Given the description of an element on the screen output the (x, y) to click on. 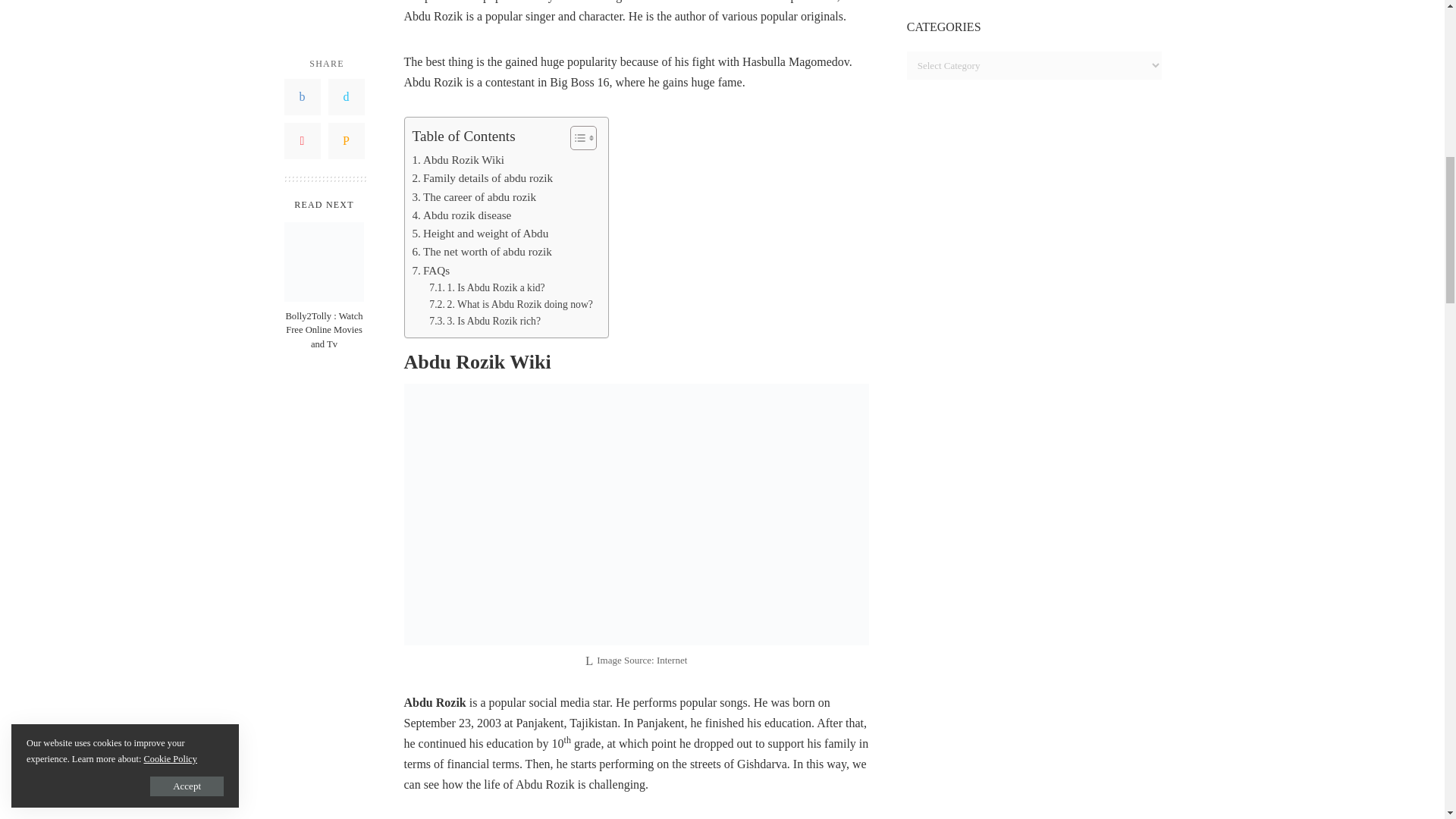
Twitter (345, 2)
Height and weight of Abdu (480, 233)
Pinterest (301, 29)
Facebook (301, 2)
Family details of abdu rozik (482, 177)
Email (345, 29)
Abdu Rozik Wiki (458, 159)
Abdu rozik disease (462, 215)
The career of abdu rozik (474, 197)
